Given the description of an element on the screen output the (x, y) to click on. 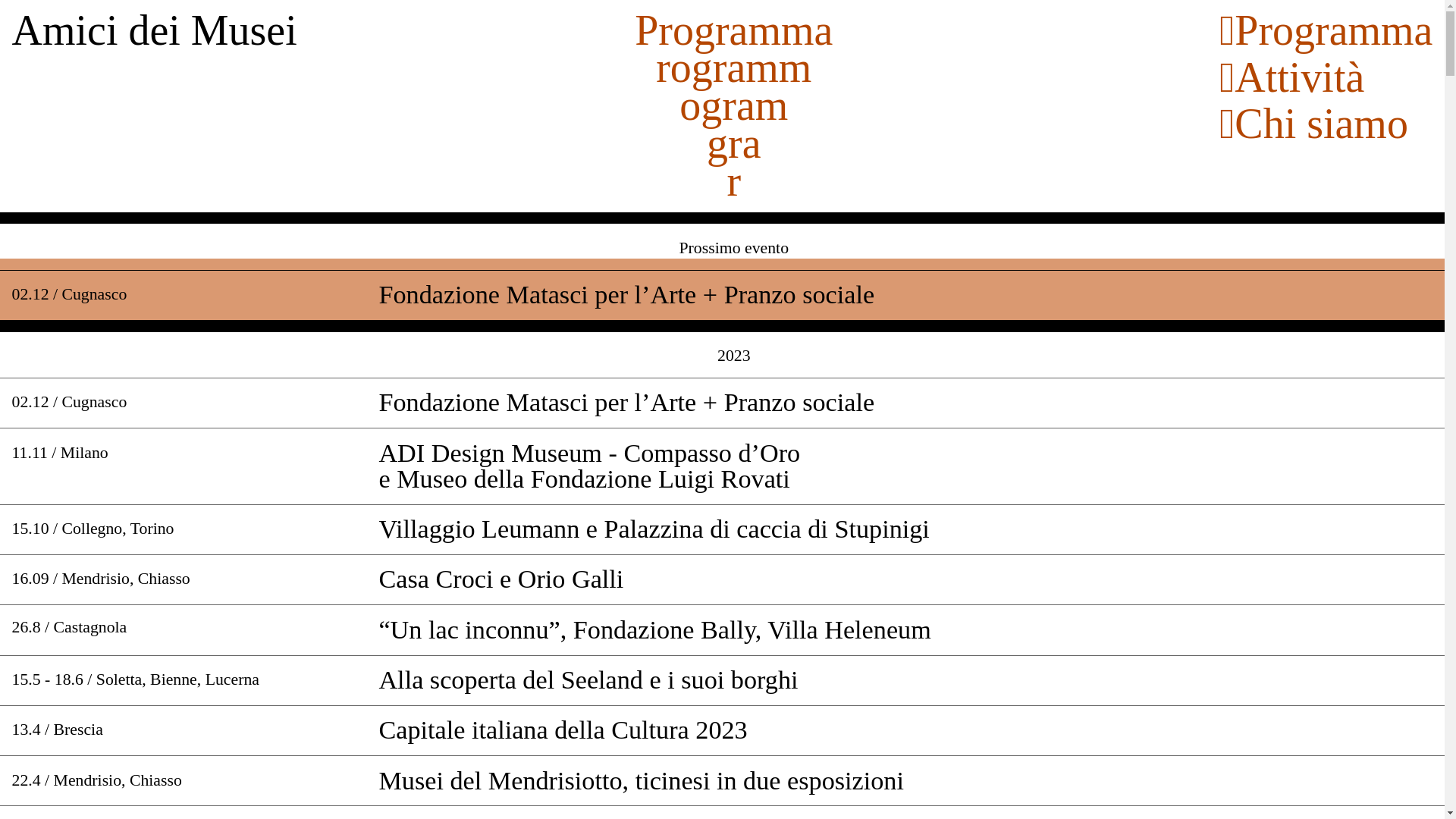
02.12 / Cugnasco Element type: text (69, 294)
15.5 - 18.6 / Soletta, Bienne, Lucerna Element type: text (135, 679)
11.11 / Milano Element type: text (60, 452)
22.4 / Mendrisio, Chiasso Element type: text (97, 780)
15.10 / Collegno, Torino Element type: text (93, 528)
02.12 / Cugnasco Element type: text (69, 401)
Casa Croci e Orio Galli  Element type: text (504, 578)
Capitale italiana della Cultura 2023 Element type: text (562, 729)
Villaggio Leumann e Palazzina di caccia di Stupinigi Element type: text (653, 528)
26.8 / Castagnola Element type: text (69, 627)
Musei del Mendrisiotto, ticinesi in due esposizioni Element type: text (640, 780)
13.4 / Brescia Element type: text (57, 729)
16.09 / Mendrisio, Chiasso Element type: text (101, 578)
Alla scoperta del Seeland e i suoi borghi Element type: text (587, 679)
